Given the description of an element on the screen output the (x, y) to click on. 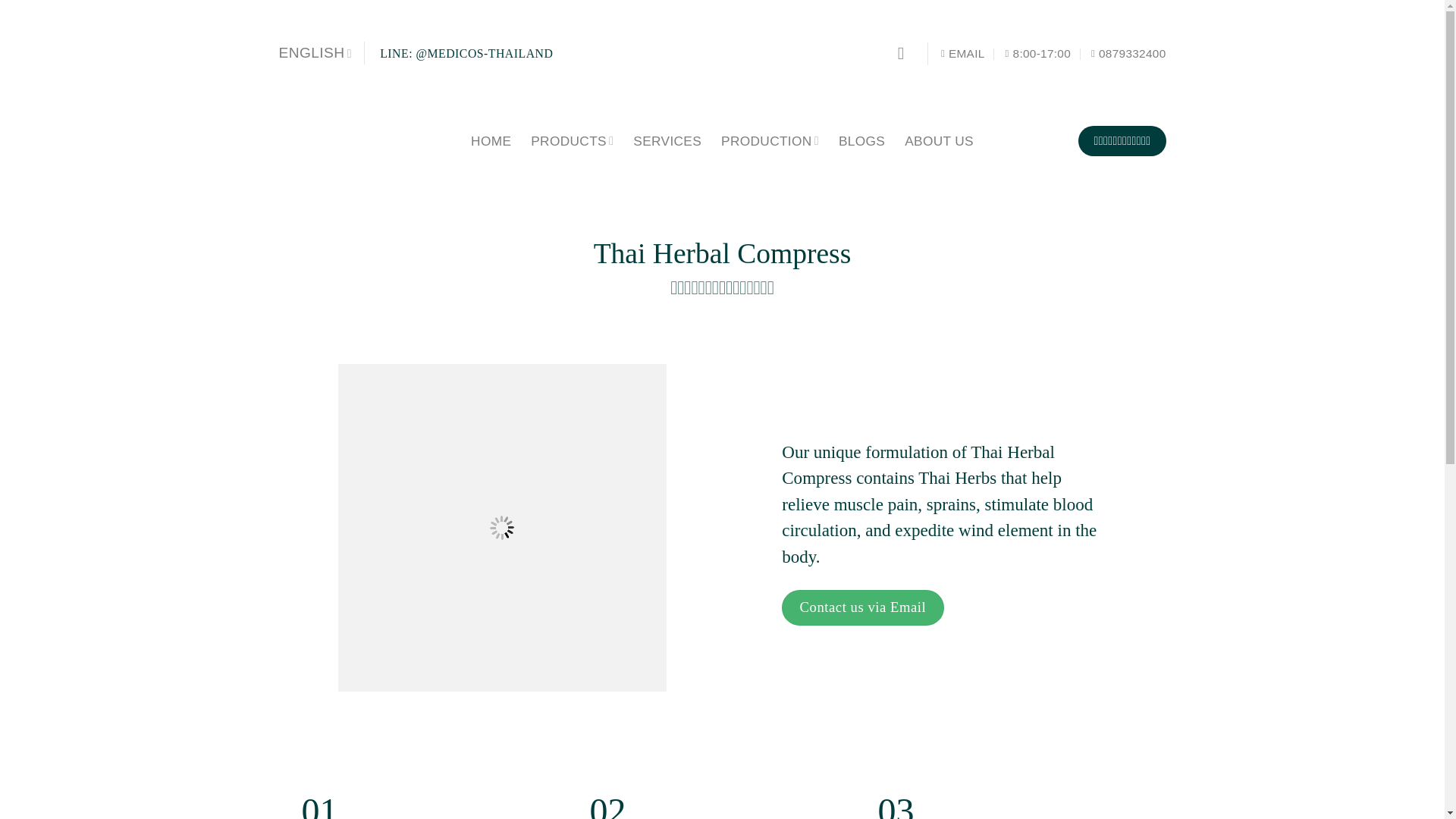
ENGLISH (315, 52)
BLOGS (861, 140)
PRODUCTION (769, 140)
SERVICES (667, 140)
PRODUCTS (571, 140)
